Given the description of an element on the screen output the (x, y) to click on. 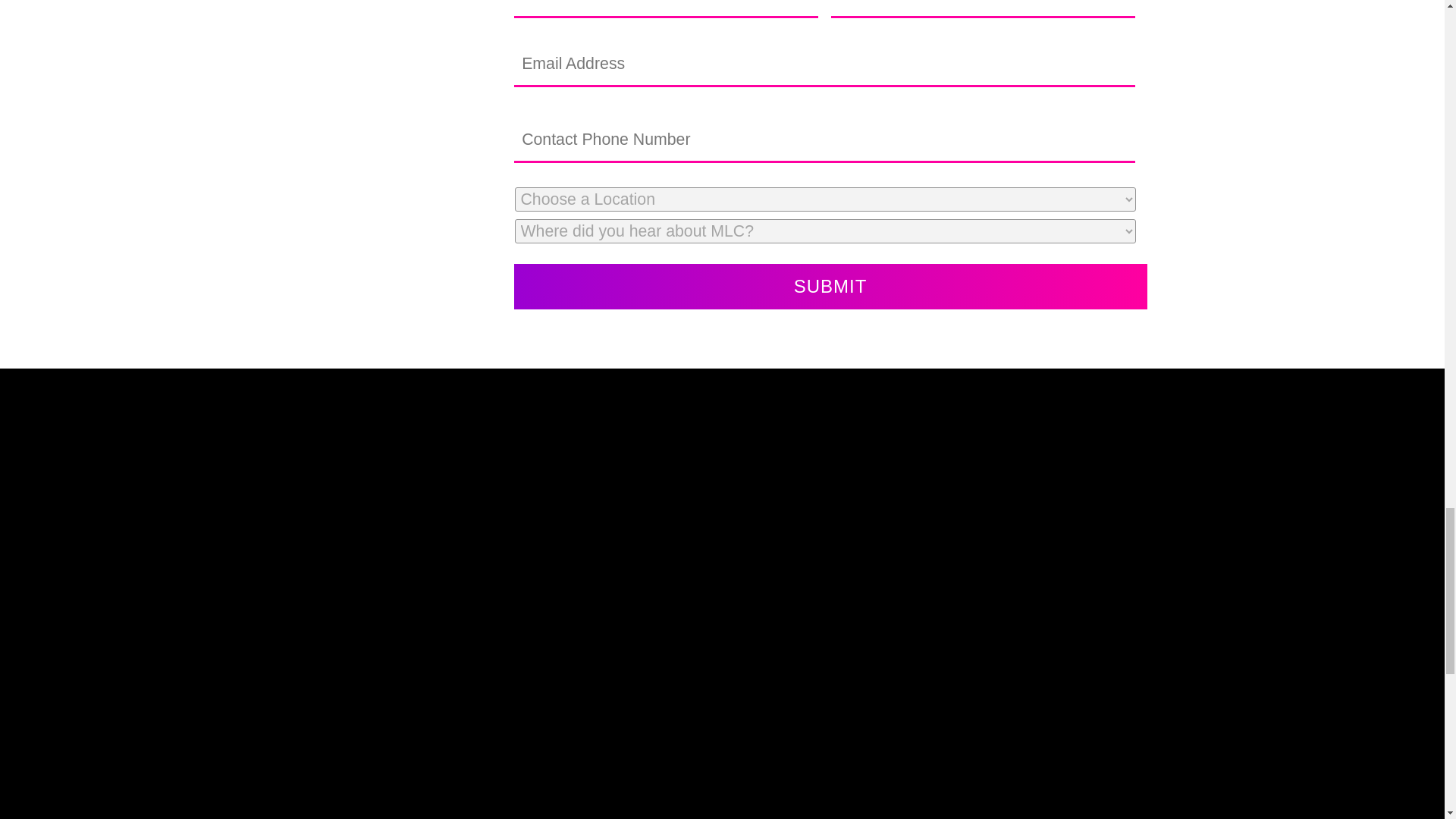
Submit (830, 286)
